Given the description of an element on the screen output the (x, y) to click on. 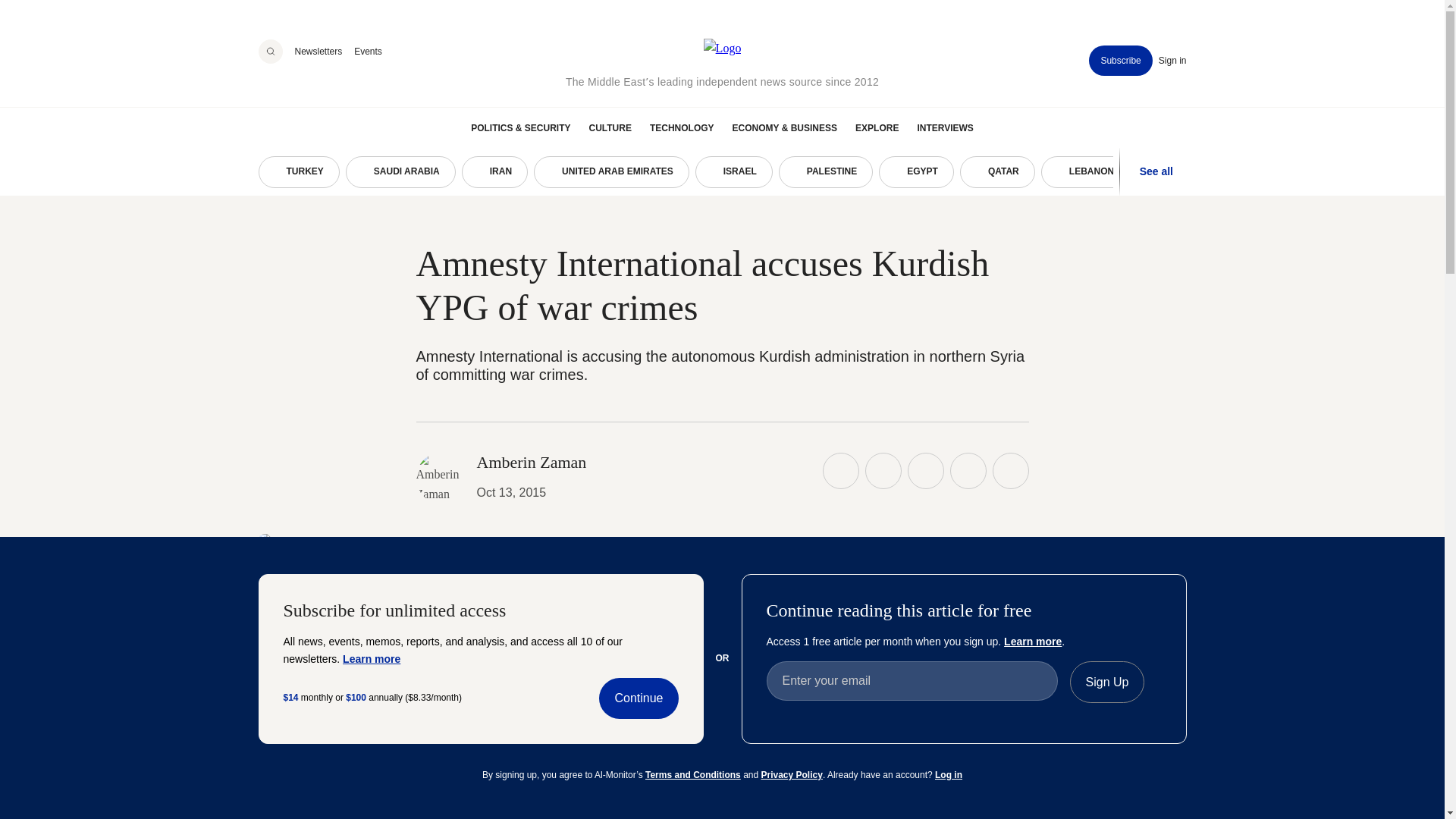
PALESTINE (825, 172)
Events (367, 51)
LEBANON (1085, 172)
Sign in (1172, 60)
QATAR (997, 172)
TURKEY (298, 172)
OMAN (1171, 172)
IRAQ (1325, 172)
EXPLORE (877, 127)
